Given the description of an element on the screen output the (x, y) to click on. 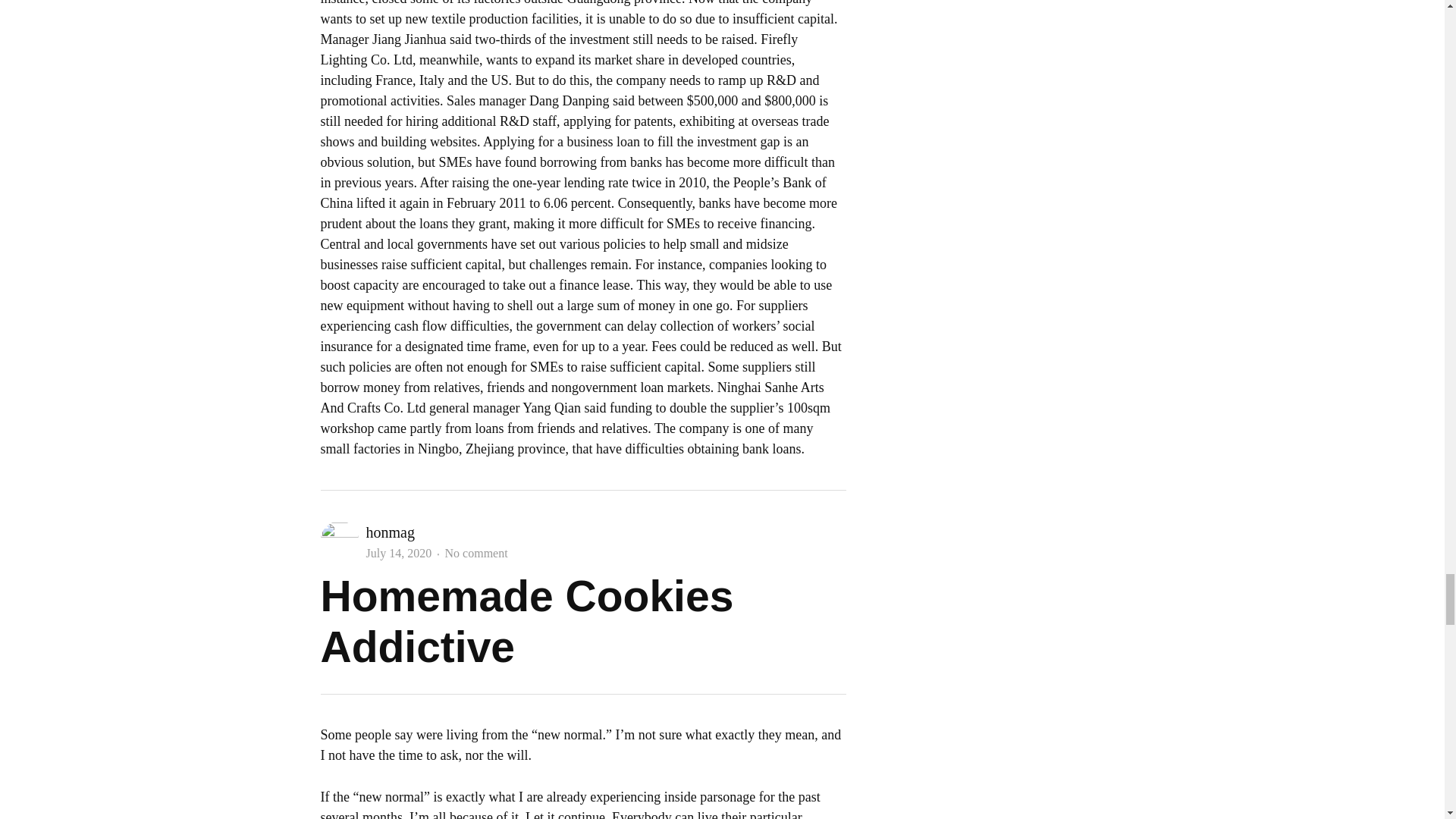
honmag (389, 532)
Homemade Cookies Addictive (526, 620)
July 14, 2020 (397, 553)
